Given the description of an element on the screen output the (x, y) to click on. 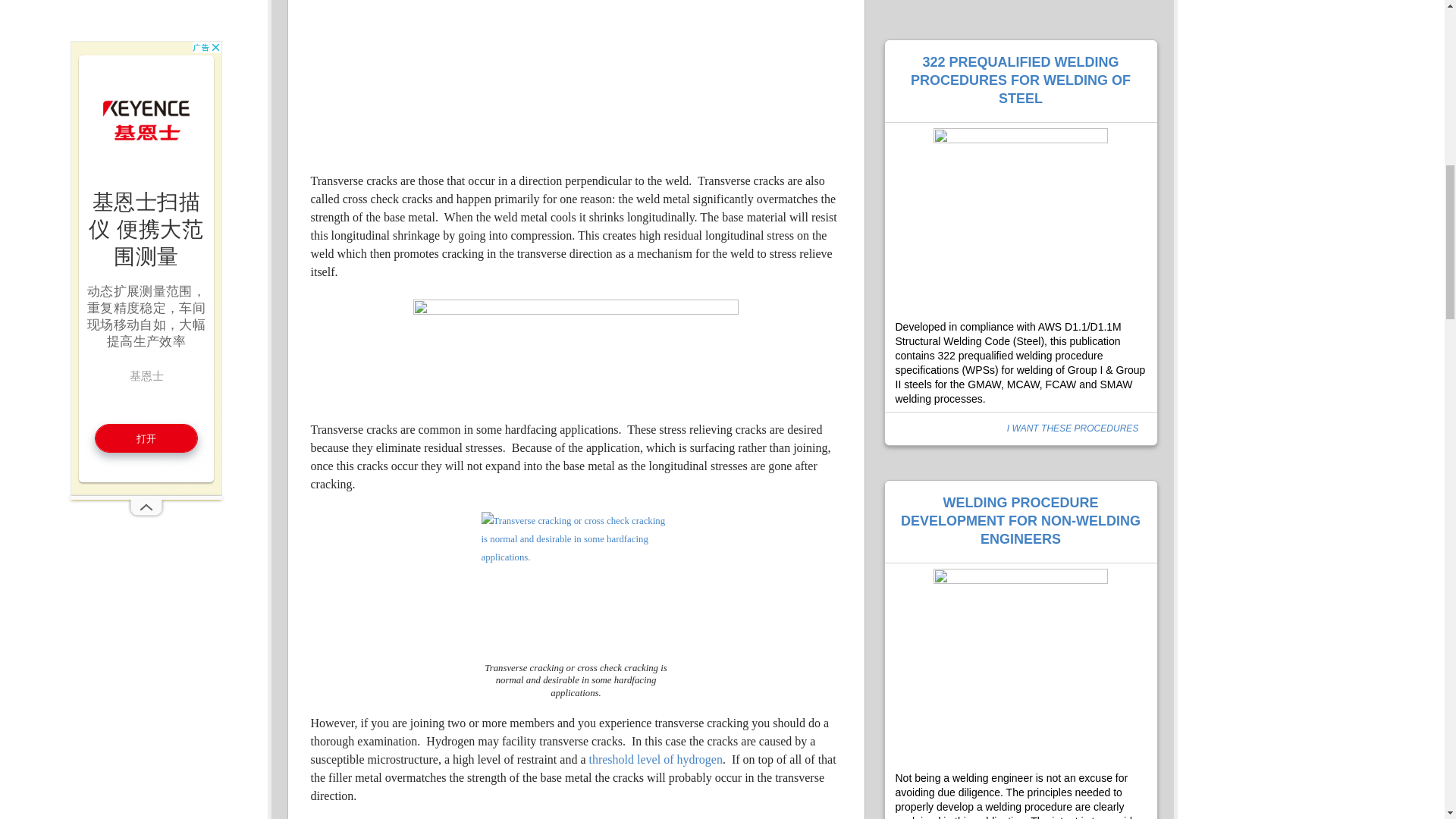
threshold level of hydrogen (653, 758)
